Given the description of an element on the screen output the (x, y) to click on. 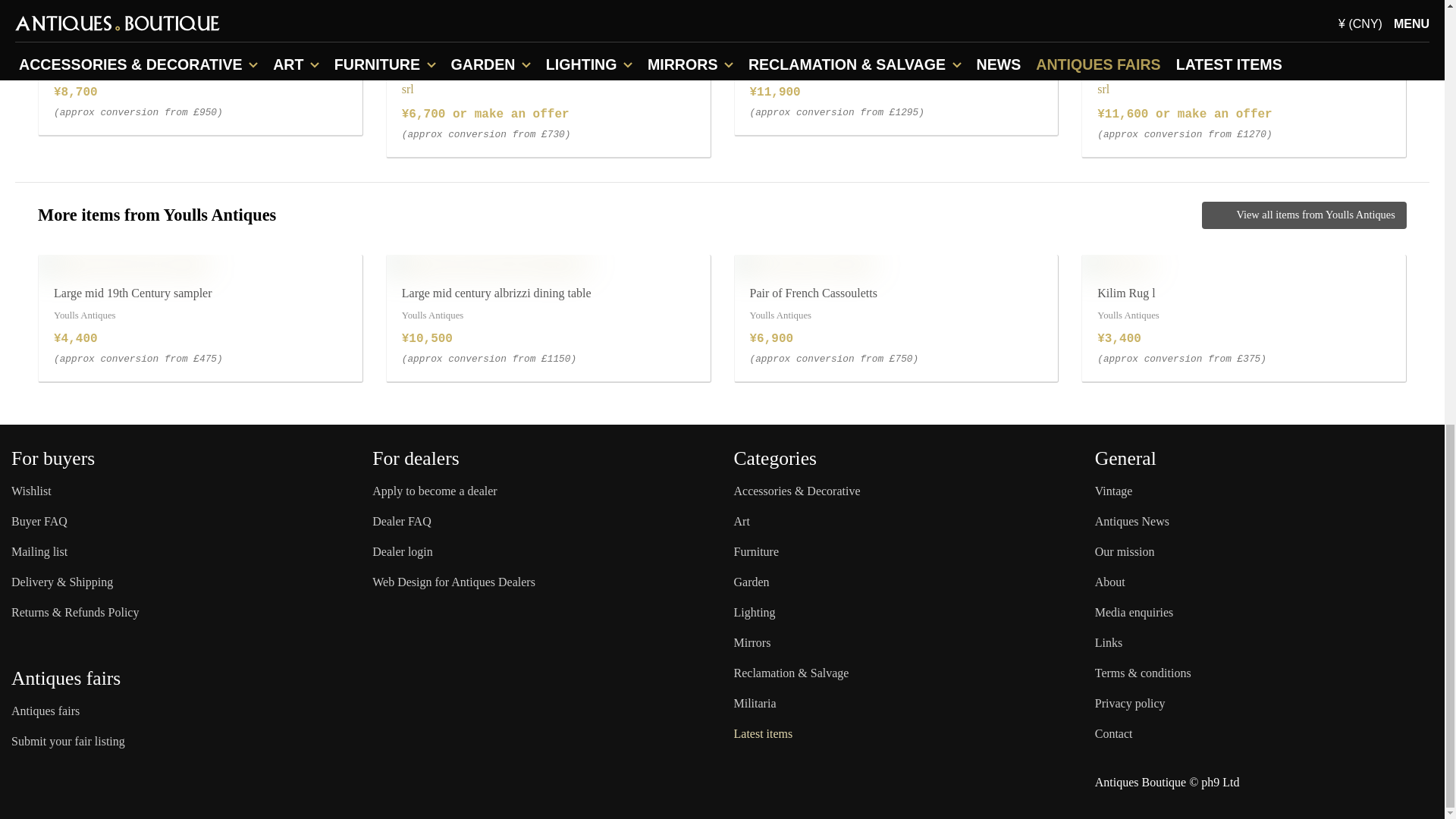
Brass Inlaid Hoshiarpur Table (117, 17)
Large mid century albrizzi dining table (487, 263)
Large mid 19th Century sampler (124, 263)
Antique Walnut Nightstand, Late 19th Century (1201, 17)
Antique Walnut Nightstand, Mid 19th Century (505, 17)
Kilim Rug l (1116, 263)
Super Pair French Round Parquetry Lamp Table (856, 17)
Pair of French Cassouletts (803, 263)
